Given the description of an element on the screen output the (x, y) to click on. 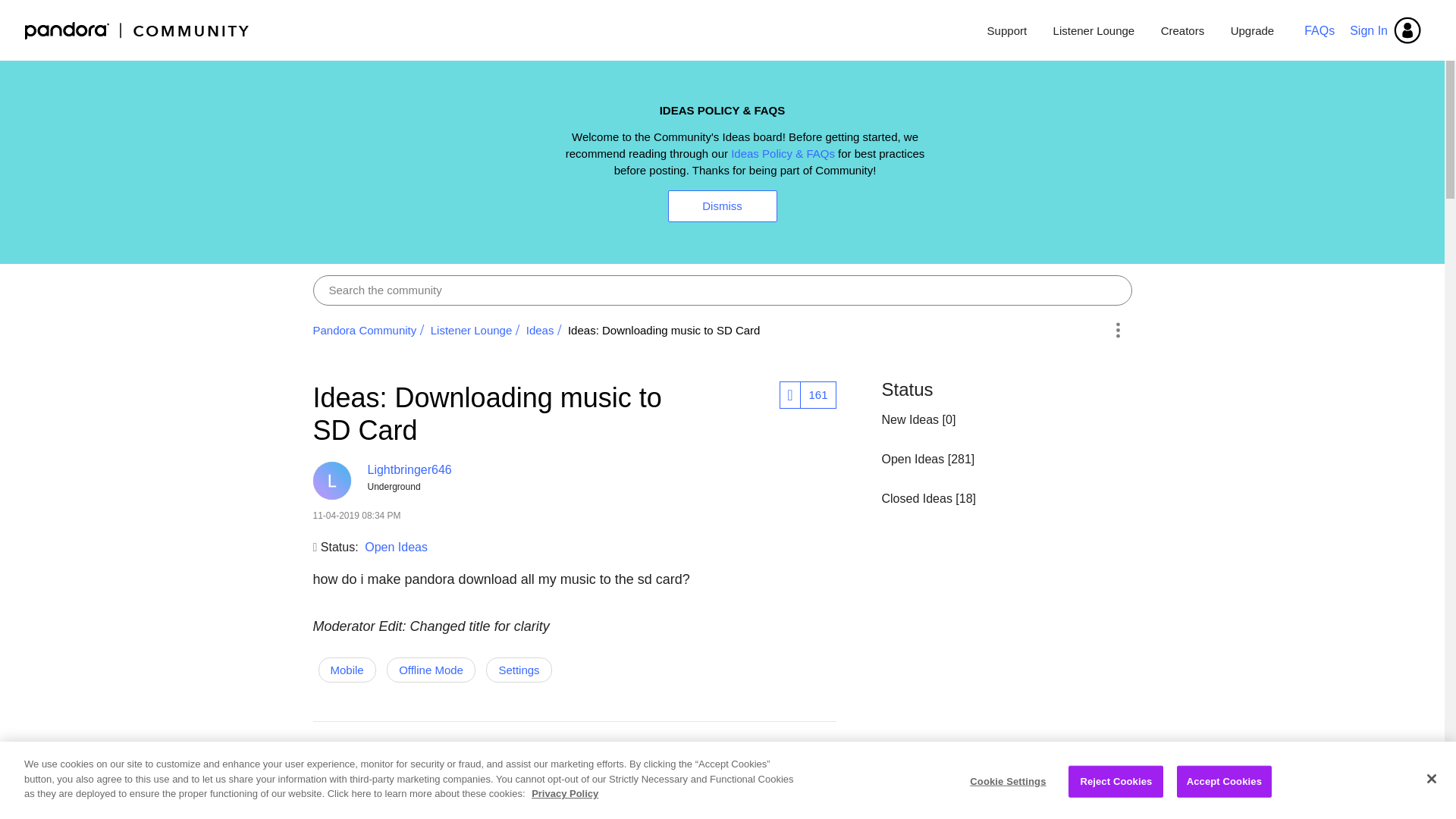
Posted on (497, 515)
Upgrade (1247, 30)
Options (1117, 329)
FAQs (1319, 30)
Pandora Community (137, 29)
Search (722, 290)
Show option menu (839, 801)
Sign In (1385, 30)
Pandora Community (364, 329)
Dismiss (721, 205)
Listener Lounge (471, 329)
Listener Lounge (1094, 30)
Show option menu (1117, 329)
Lightbringer646 (331, 480)
Support (1007, 30)
